Given the description of an element on the screen output the (x, y) to click on. 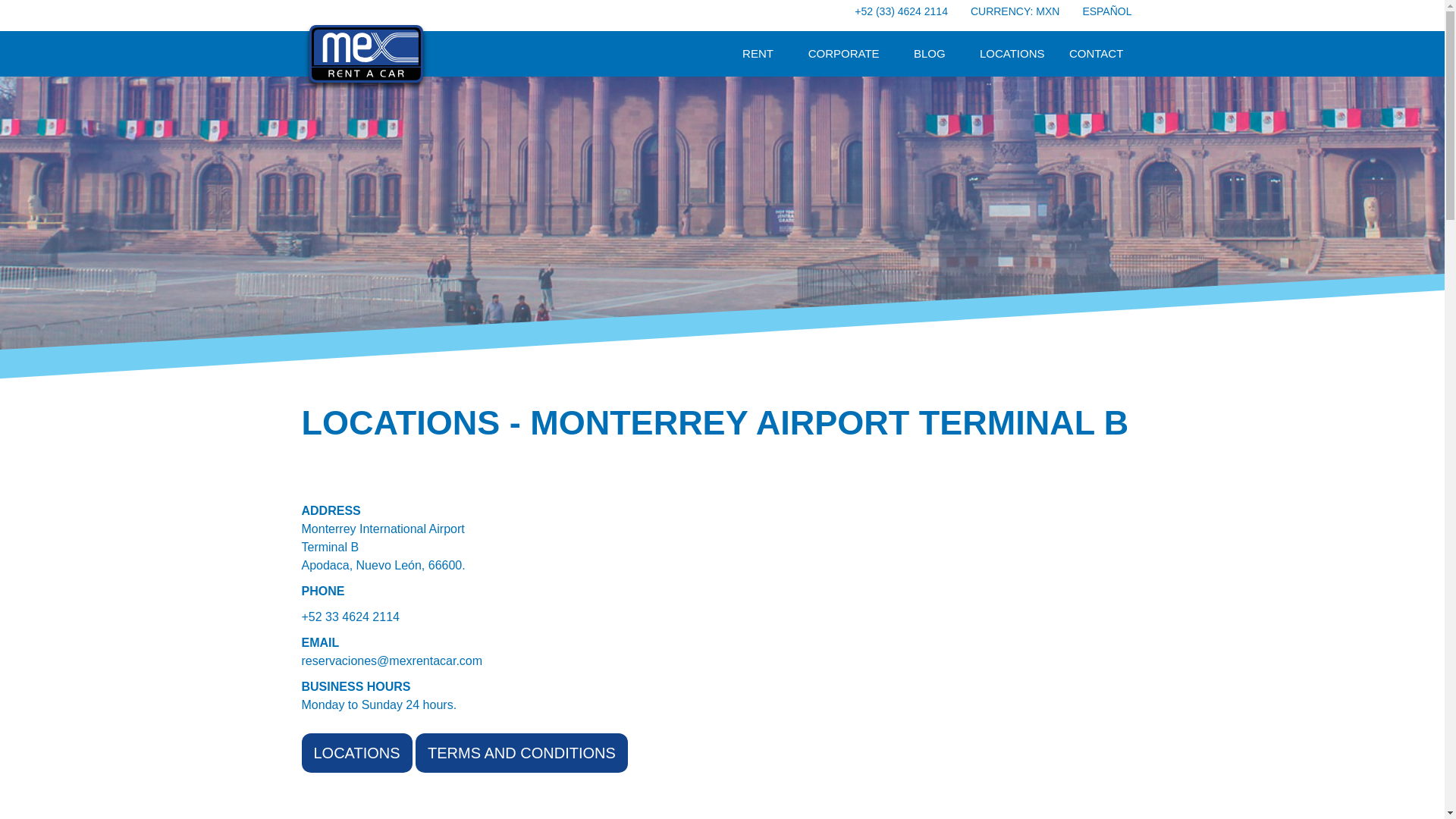
CURRENCY: MXN (1015, 11)
TERMS AND CONDITIONS (520, 753)
LOCATIONS (356, 753)
CONTACT (1095, 53)
LOCATIONS (1011, 53)
RENT (758, 53)
BLOG (929, 53)
CORPORATE (844, 53)
